Given the description of an element on the screen output the (x, y) to click on. 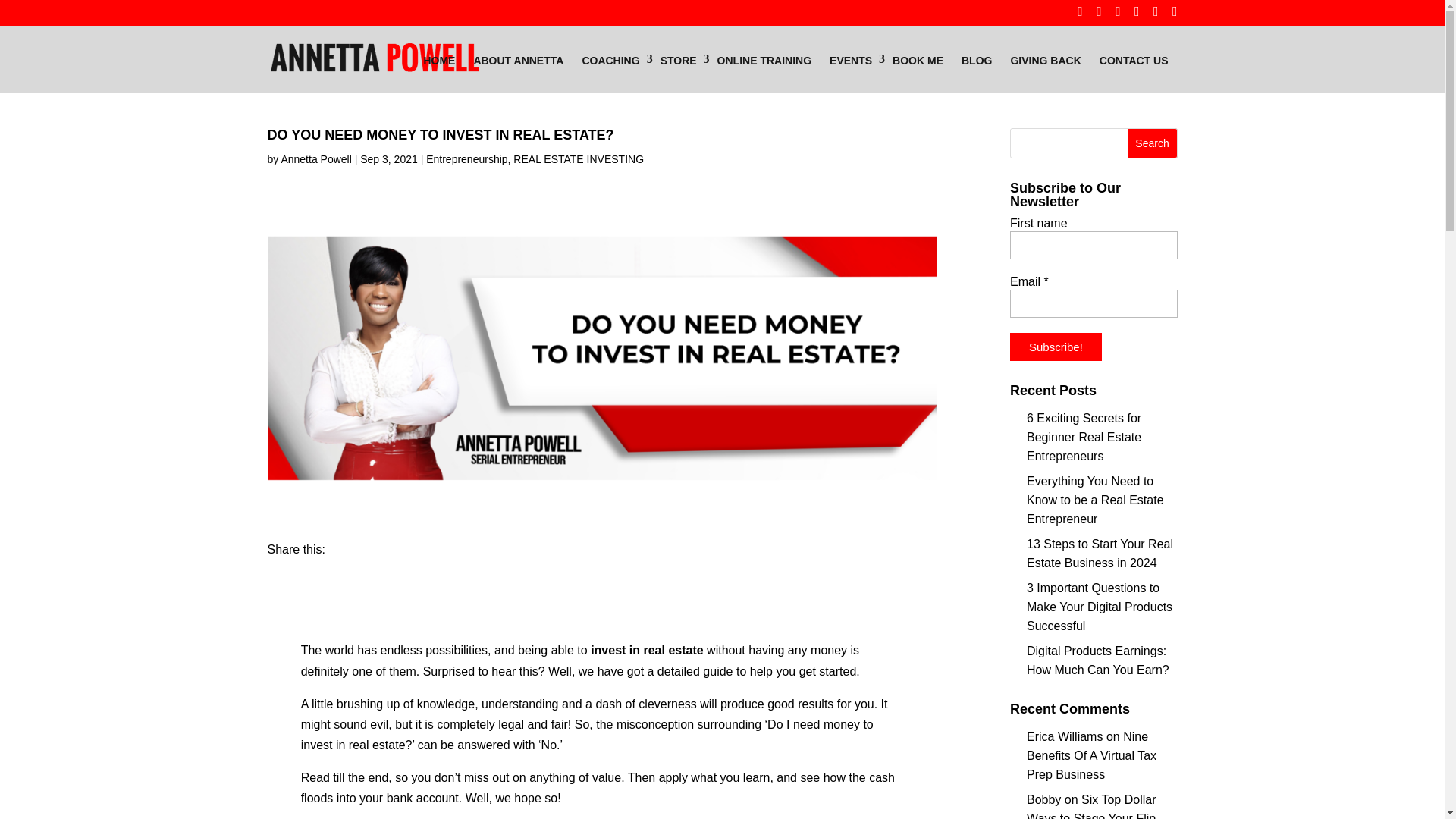
Email (1093, 303)
Entrepreneurship (466, 159)
REAL ESTATE INVESTING (578, 159)
EVENTS (852, 60)
COACHING (611, 60)
ABOUT ANNETTA (518, 60)
Annetta Powell (315, 159)
CONTACT US (1133, 60)
Subscribe! (1056, 346)
Posts by Annetta Powell (315, 159)
